Given the description of an element on the screen output the (x, y) to click on. 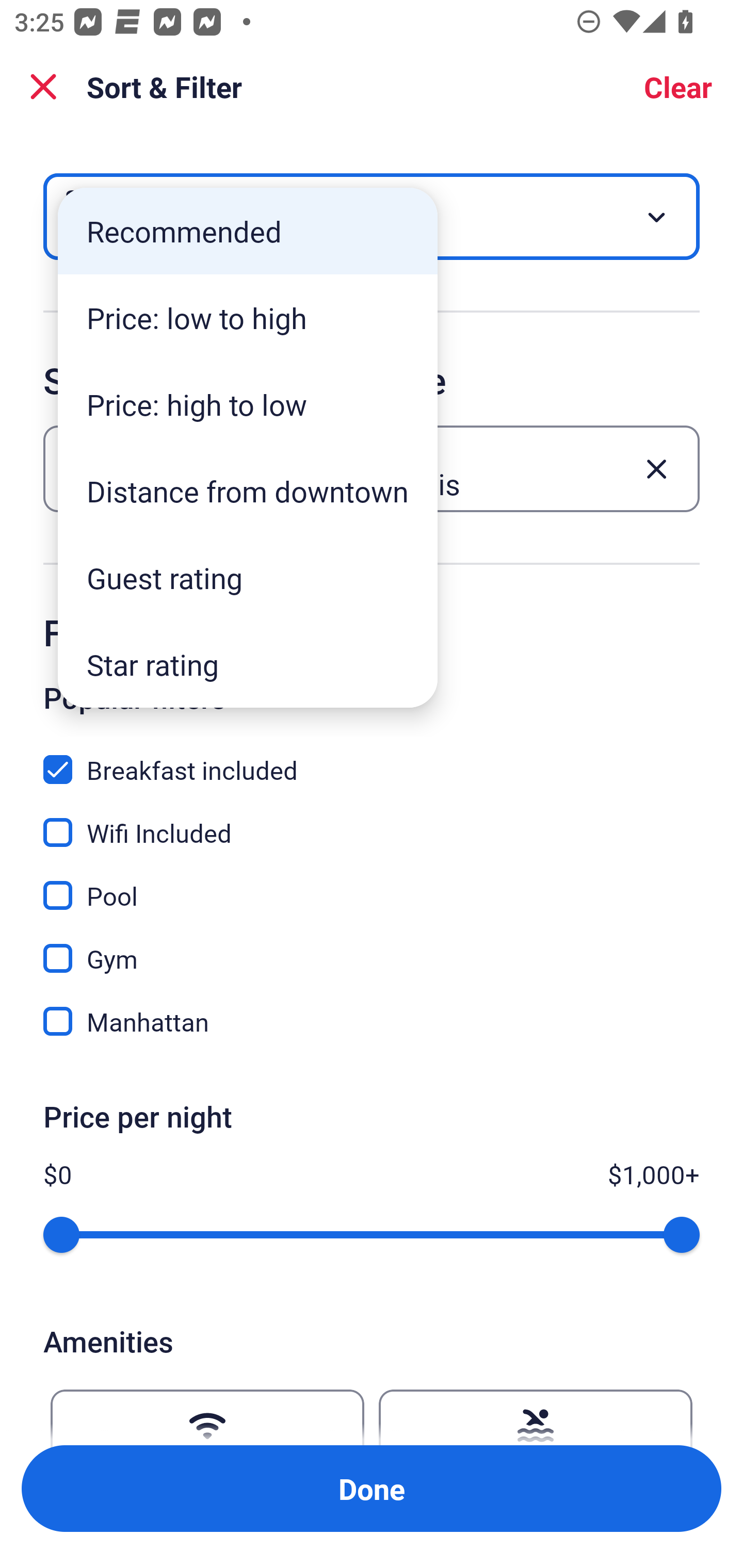
Price: low to high (247, 317)
Price: high to low (247, 404)
Distance from downtown (247, 491)
Guest rating (247, 577)
Star rating (247, 663)
